Given the description of an element on the screen output the (x, y) to click on. 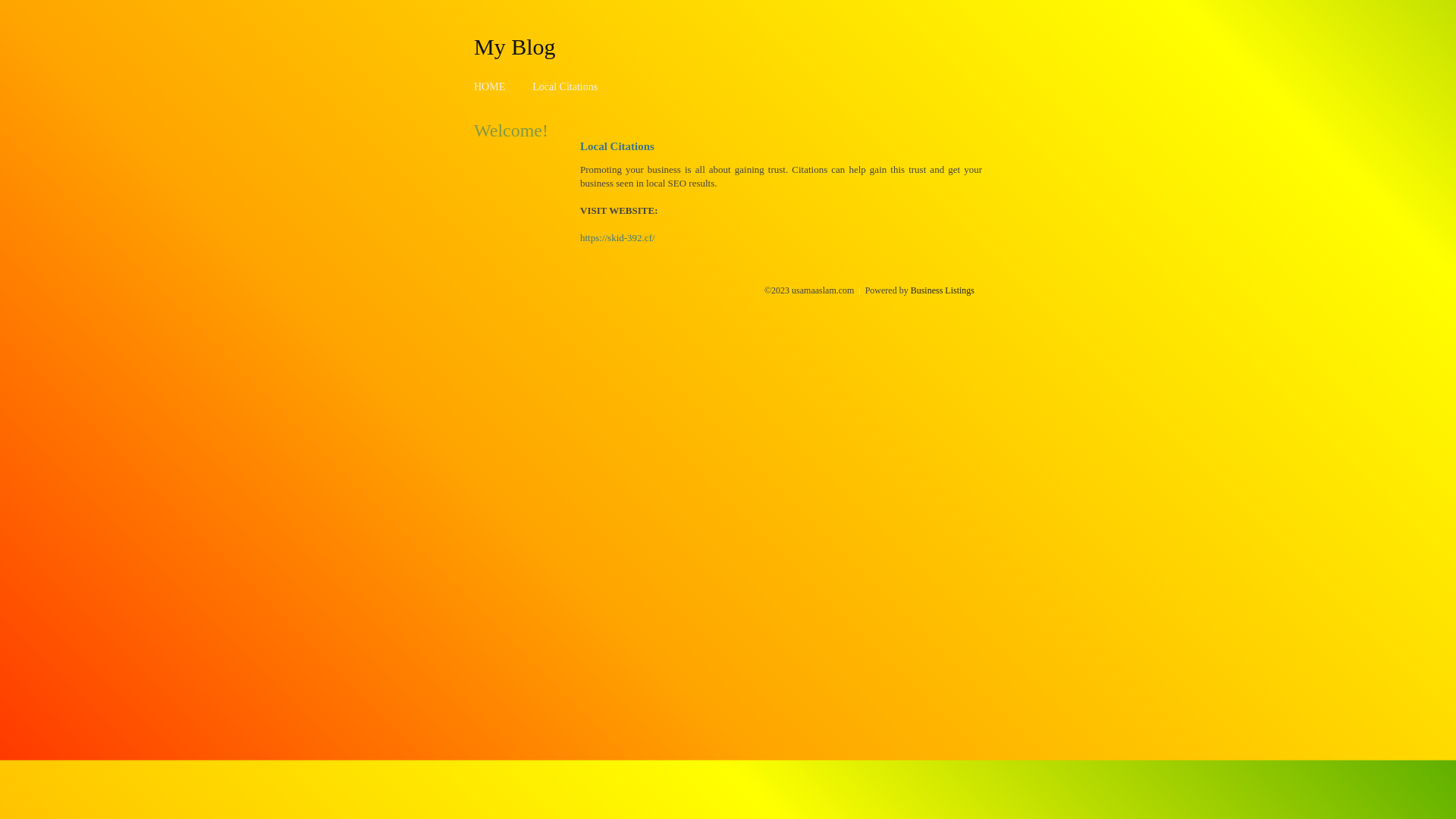
Local Citations Element type: text (564, 86)
Business Listings Element type: text (942, 290)
My Blog Element type: text (514, 46)
HOME Element type: text (489, 86)
https://skid-392.cf/ Element type: text (617, 237)
